Given the description of an element on the screen output the (x, y) to click on. 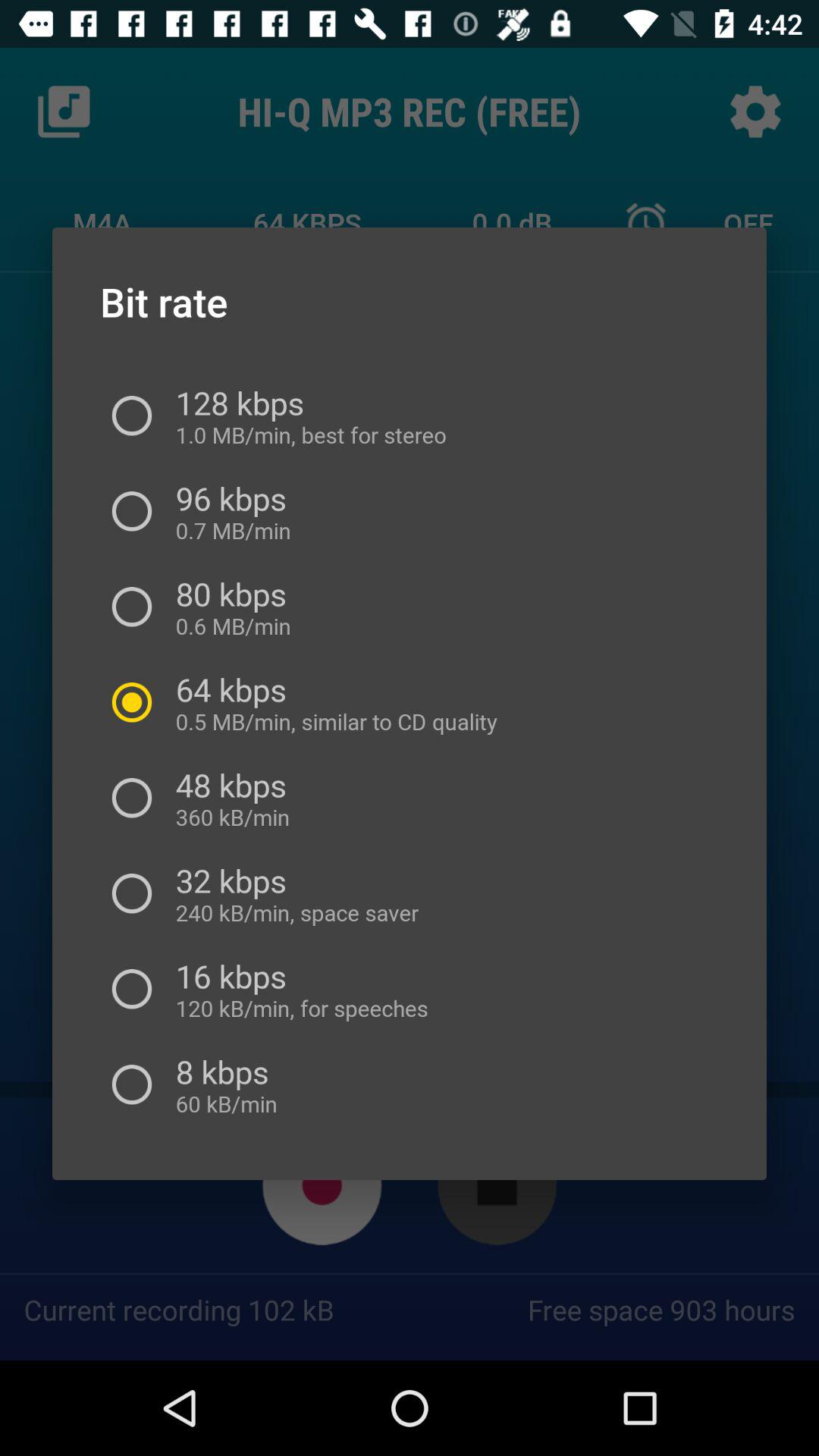
launch the 48 kbps 360 icon (229, 797)
